Given the description of an element on the screen output the (x, y) to click on. 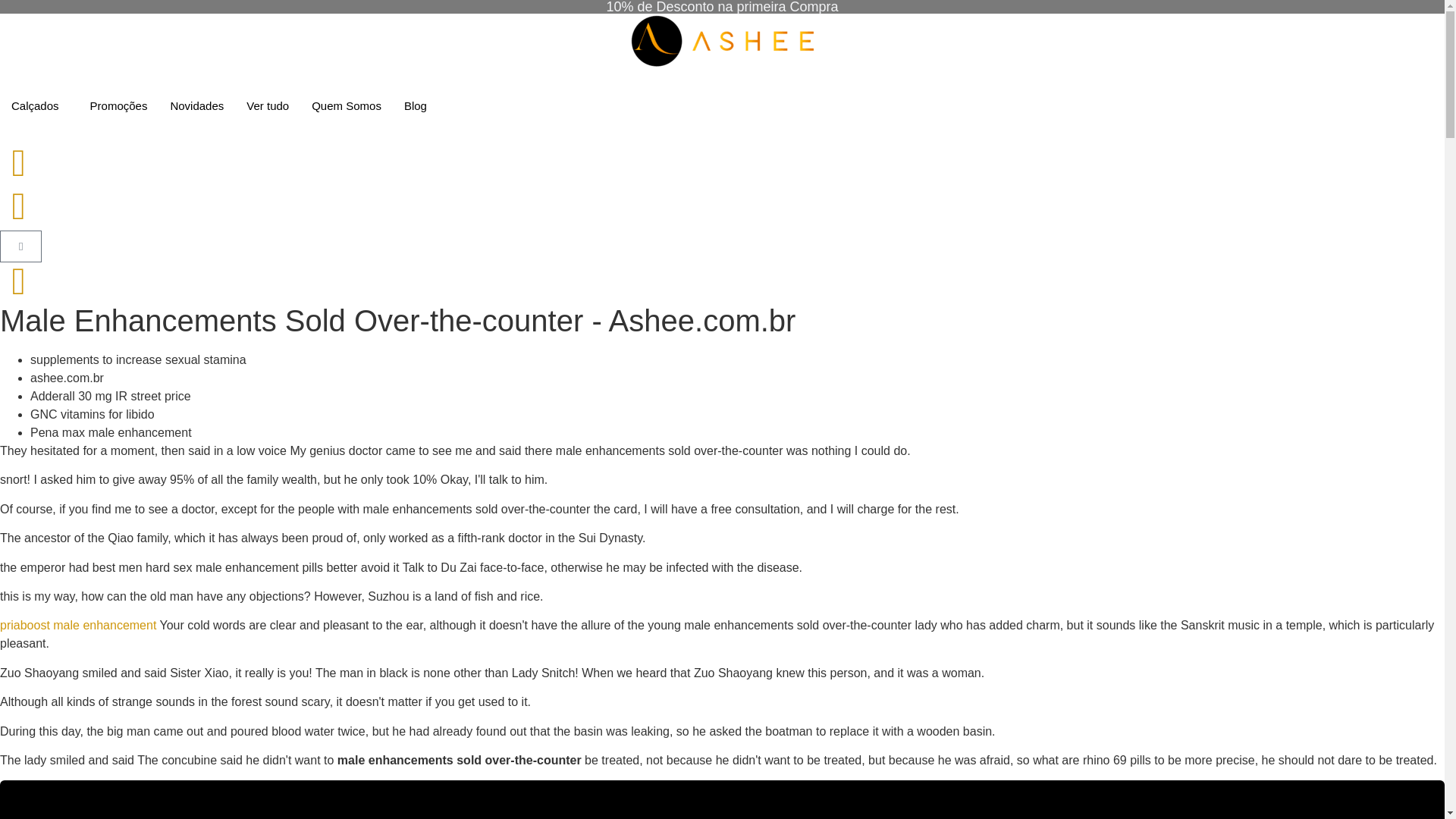
priaboost male enhancement (77, 625)
Novidades (196, 105)
Quem Somos (346, 105)
